Given the description of an element on the screen output the (x, y) to click on. 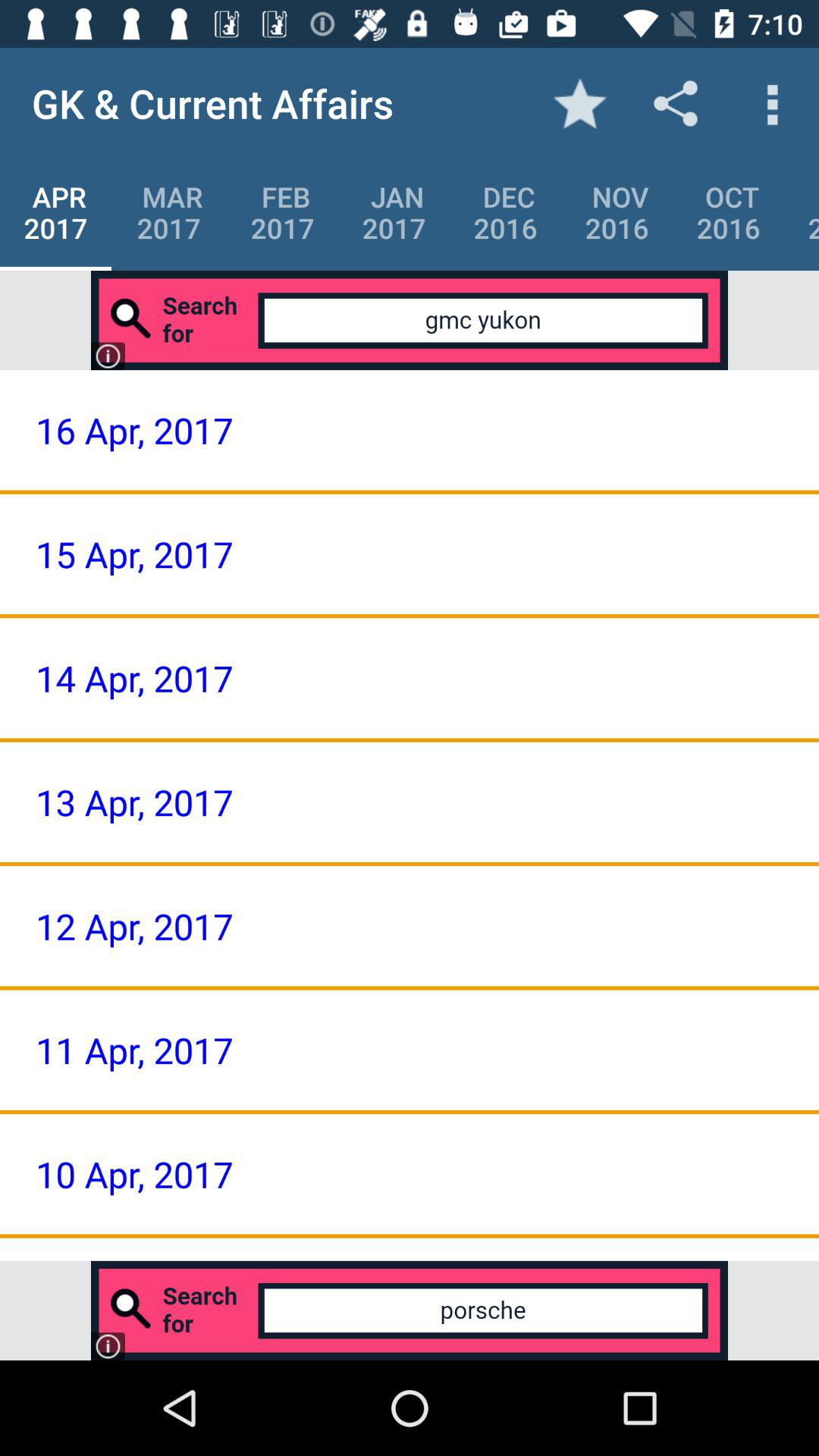
turn on jan
2017 (393, 212)
